Given the description of an element on the screen output the (x, y) to click on. 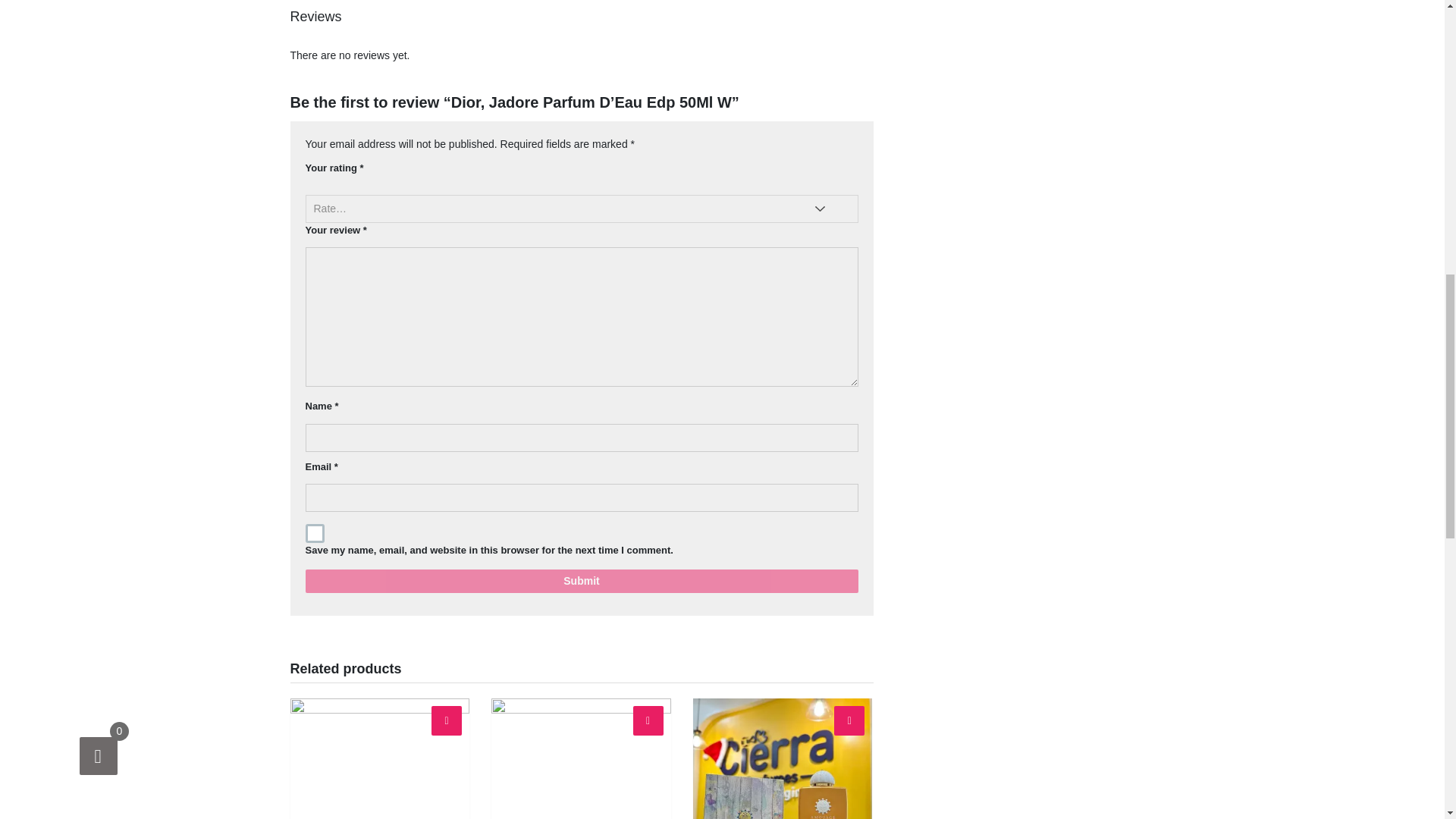
yes (313, 533)
Add To Wishlist (648, 720)
Add To Wishlist (445, 720)
Submit (580, 580)
